Given the description of an element on the screen output the (x, y) to click on. 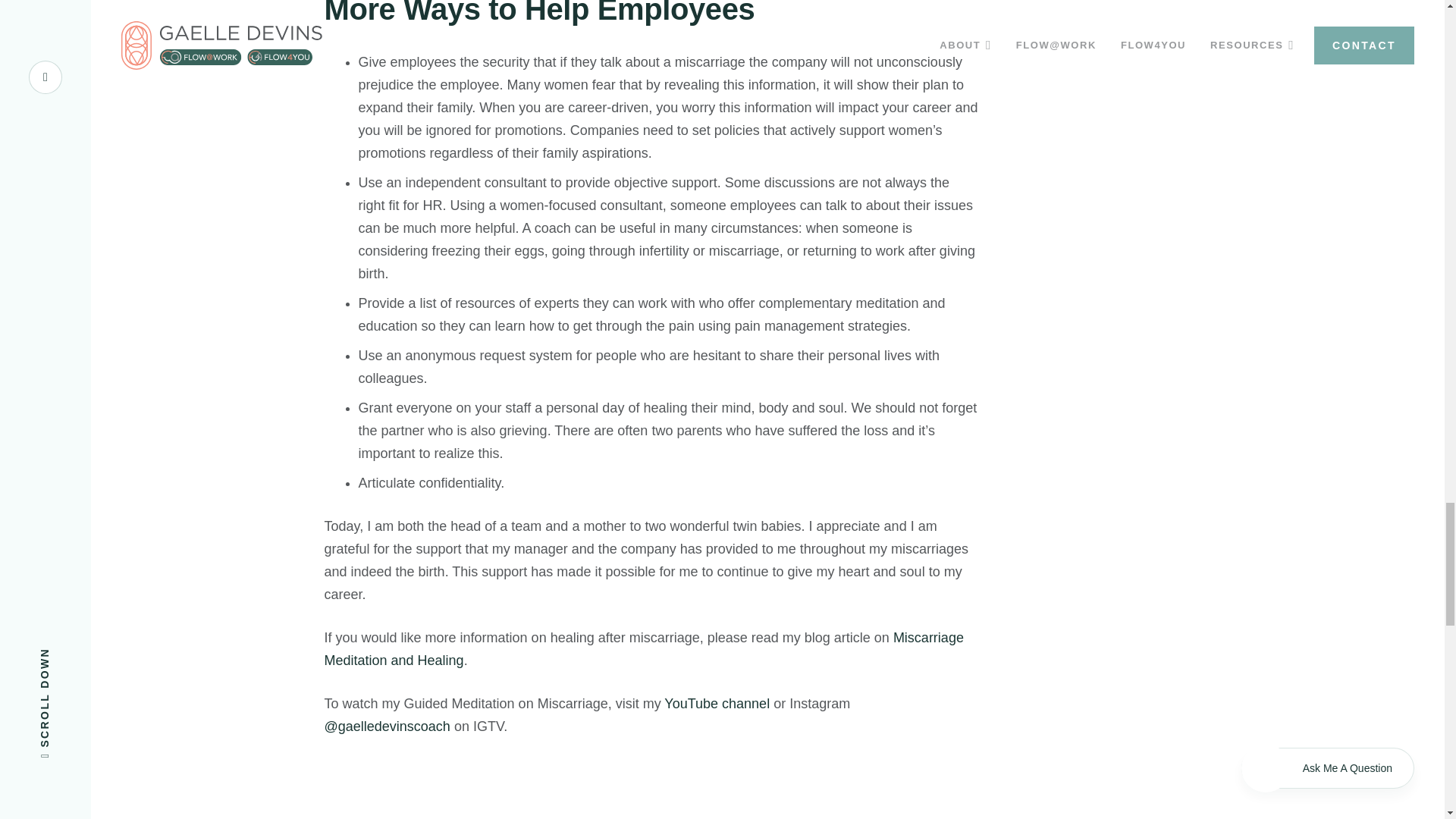
Miscarriage Meditation: Find healing in hope (506, 788)
YouTube channel (716, 703)
Miscarriage Meditation and Healing (643, 648)
